Given the description of an element on the screen output the (x, y) to click on. 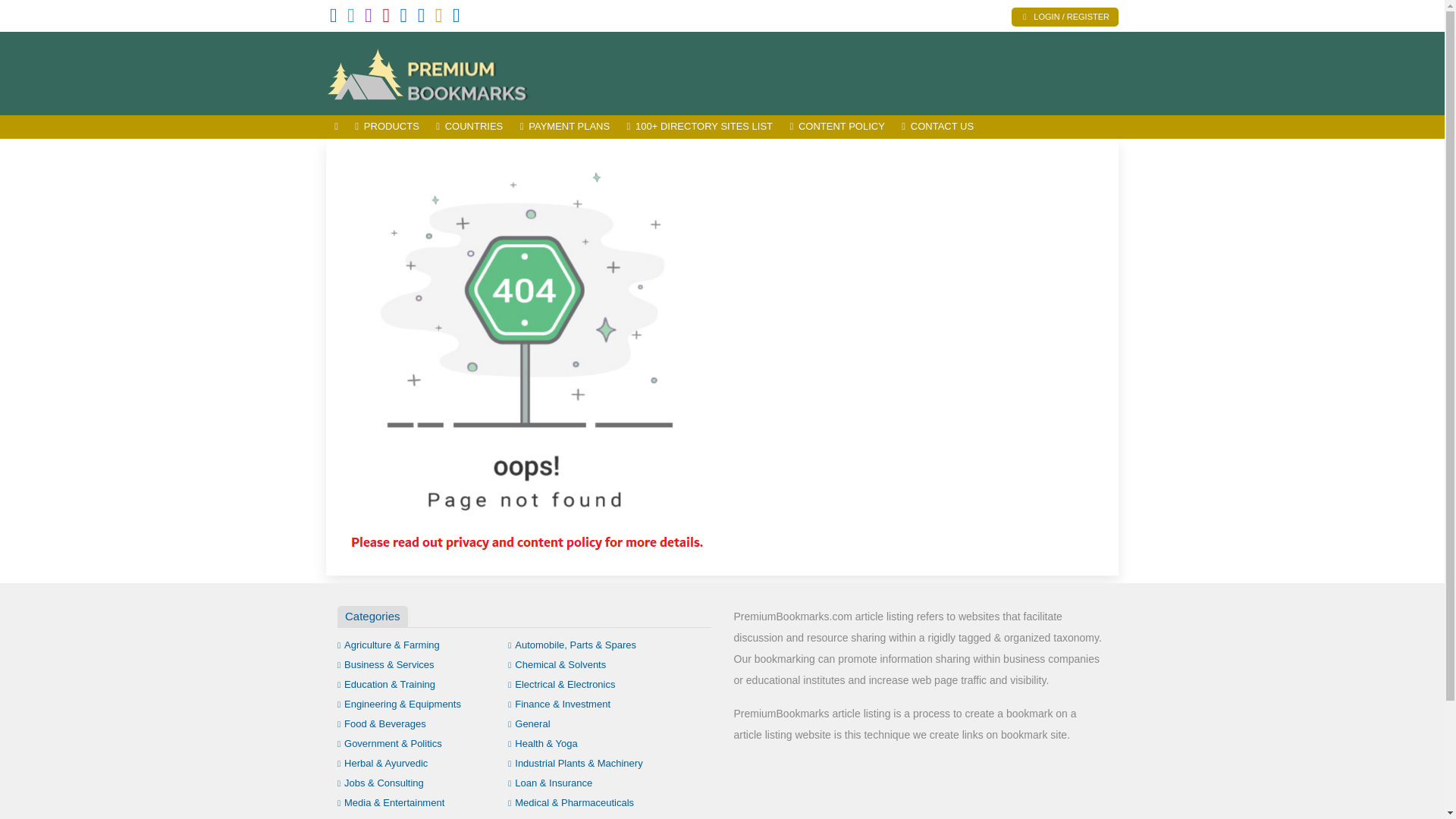
General (529, 723)
PAYMENT PLANS (564, 126)
COUNTRIES (469, 126)
CONTENT POLICY (836, 126)
CONTACT US (937, 126)
PRODUCTS (387, 126)
